Given the description of an element on the screen output the (x, y) to click on. 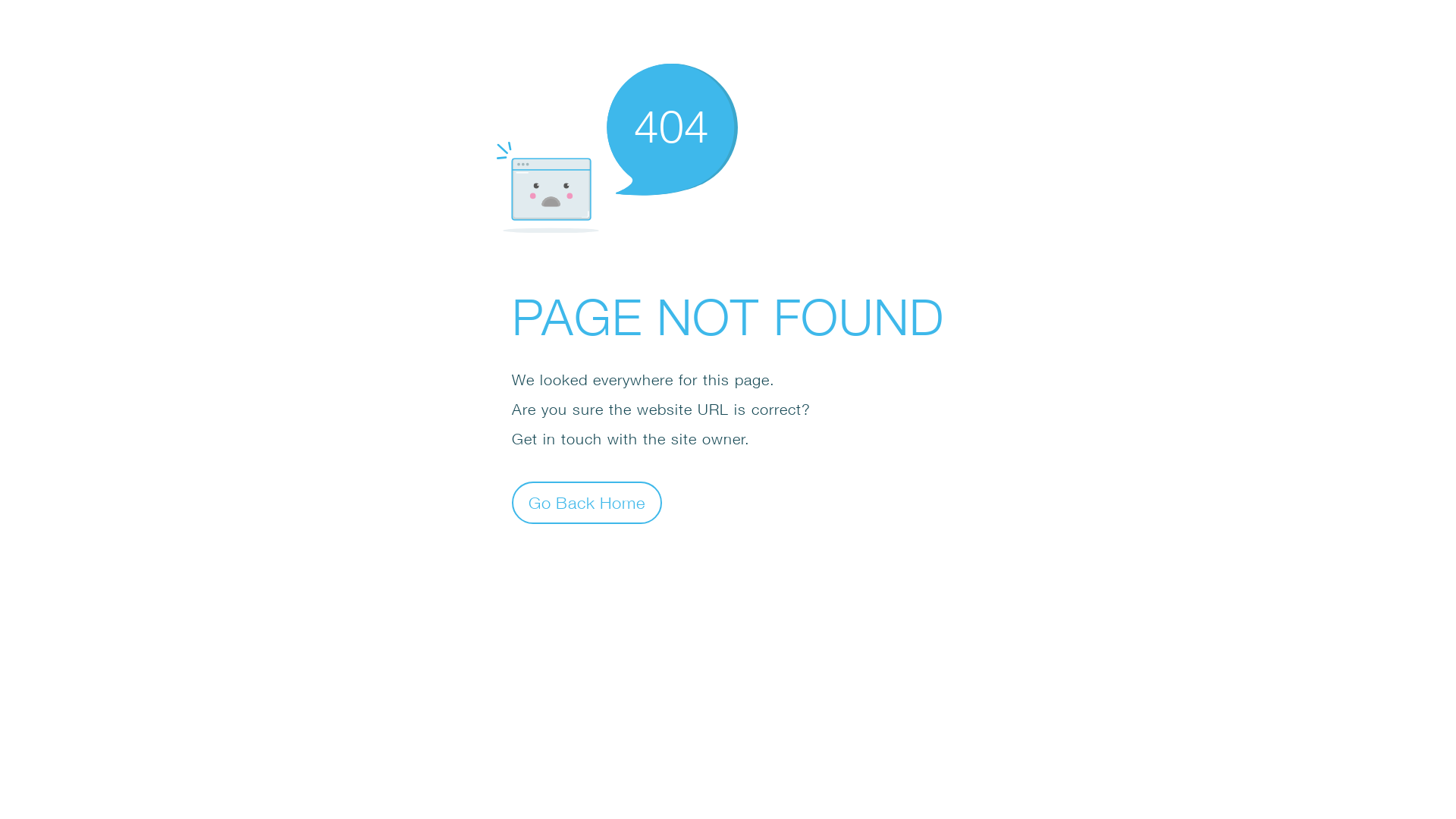
Go Back Home Element type: text (586, 502)
